Given the description of an element on the screen output the (x, y) to click on. 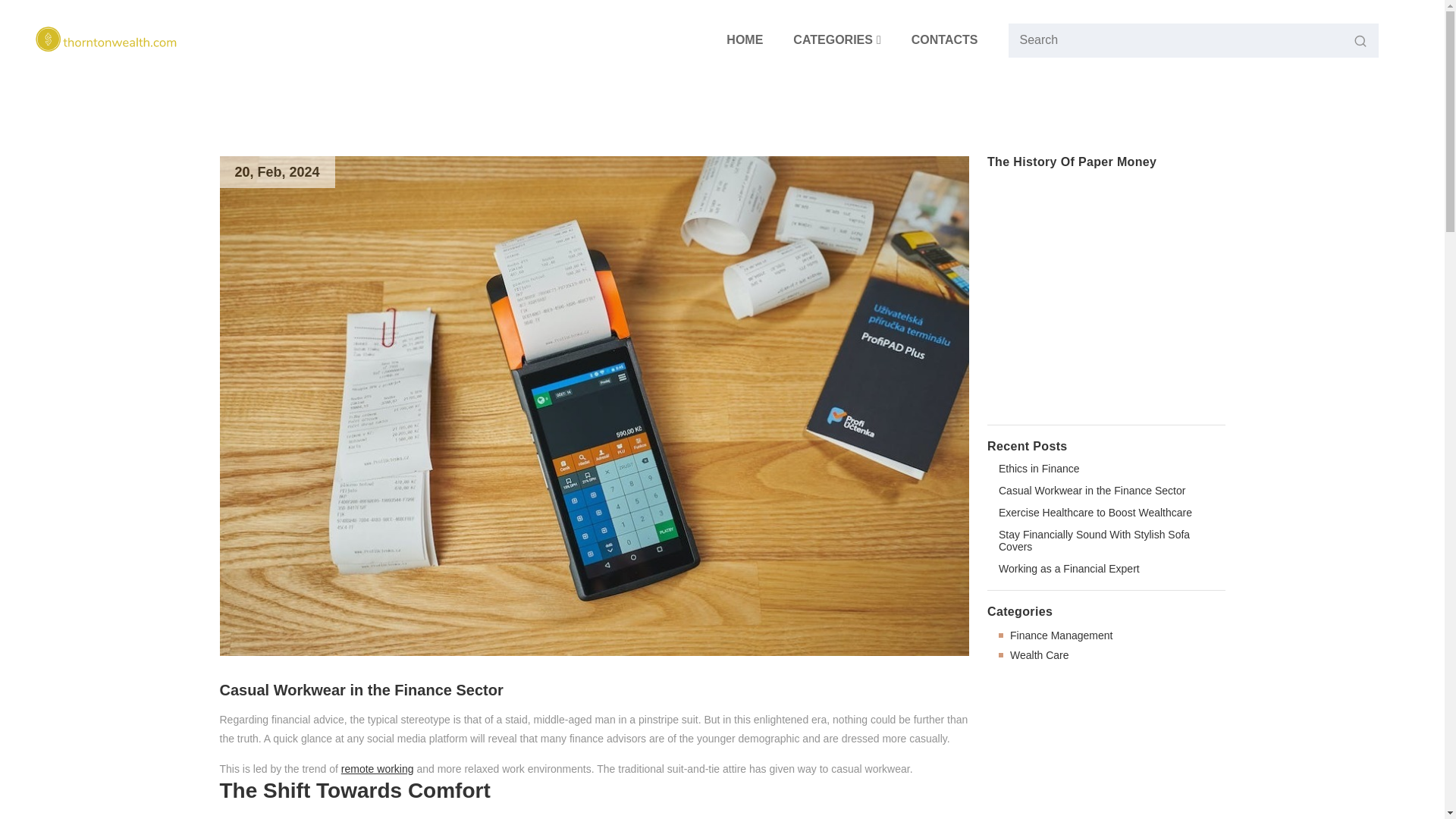
Stay Financially Sound With Stylish Sofa Covers (1106, 540)
Categories (836, 40)
CATEGORIES (836, 40)
Casual Workwear in the Finance Sector (1091, 490)
remote working (376, 769)
Ethics in Finance (1039, 468)
Working as a Financial Expert (1069, 568)
Finance Management (1061, 635)
Wealth Care (1039, 654)
yoga pants (695, 816)
